Given the description of an element on the screen output the (x, y) to click on. 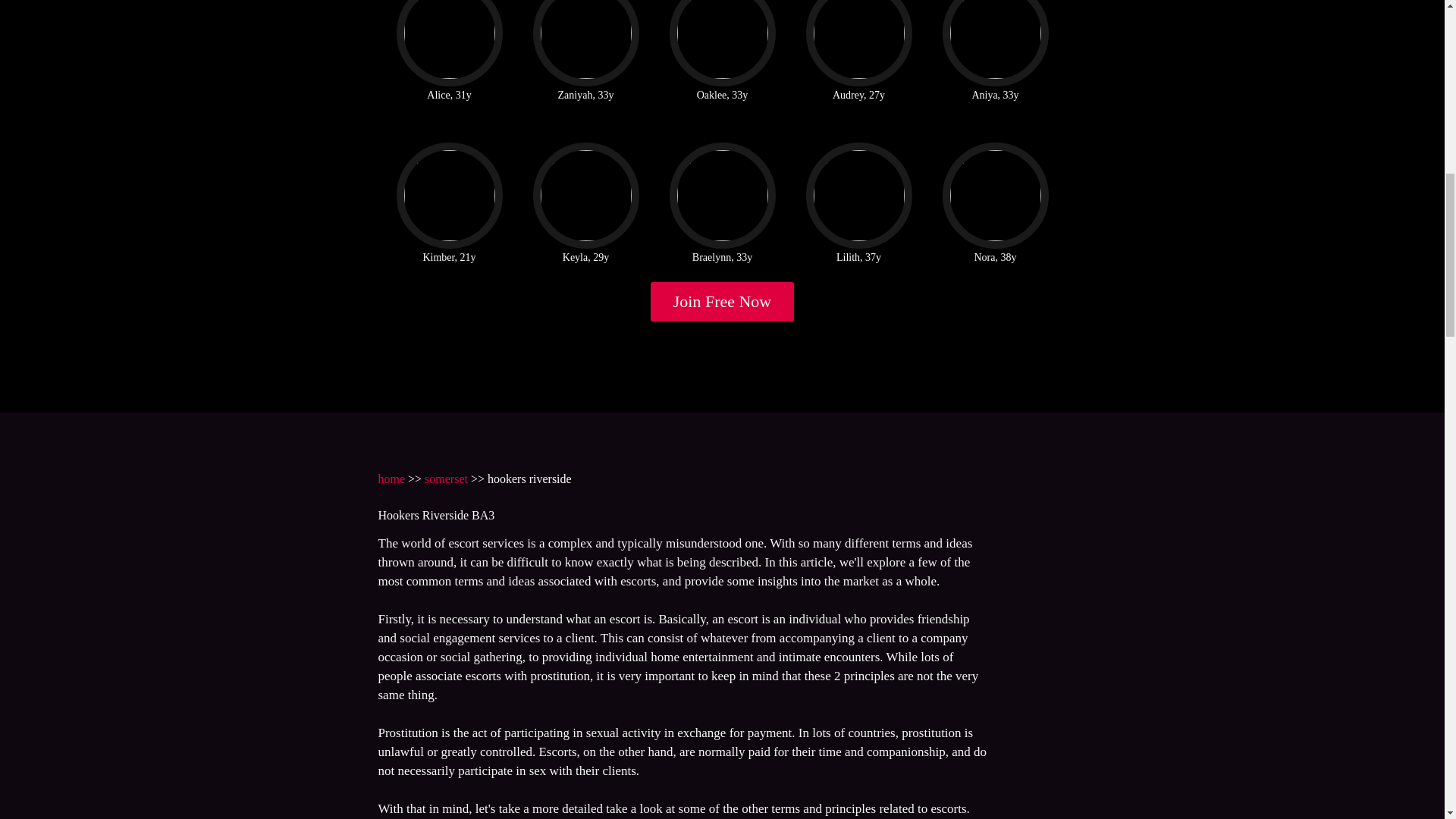
Join Free Now (722, 301)
home (390, 478)
somerset (446, 478)
Join (722, 301)
